Given the description of an element on the screen output the (x, y) to click on. 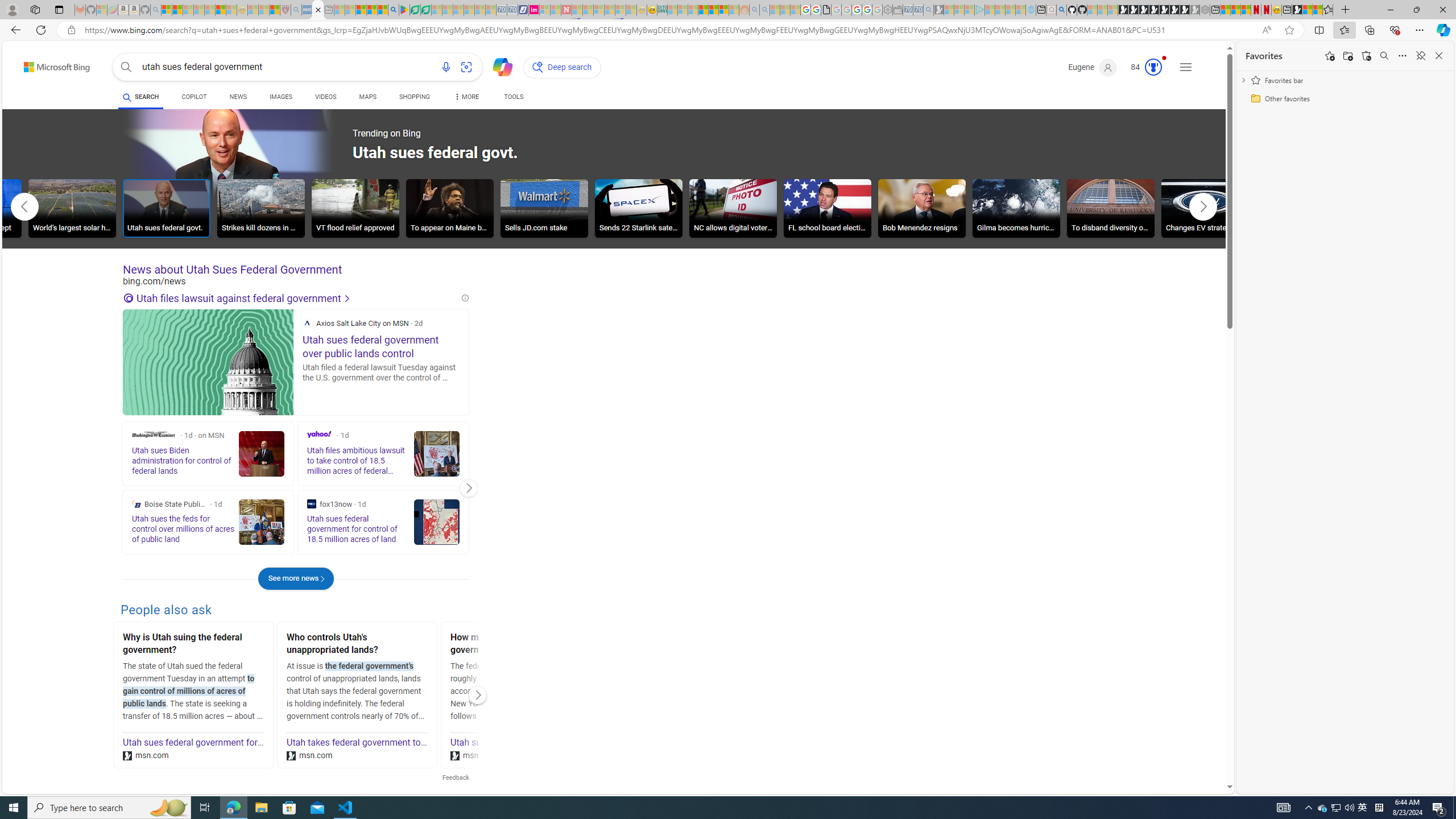
Terms of Use Agreement (414, 9)
Kinda Frugal - MSN (713, 9)
Settings and quick links (1185, 67)
Jobs - lastminute.com Investor Portal (534, 9)
MAPS (367, 96)
